Given the description of an element on the screen output the (x, y) to click on. 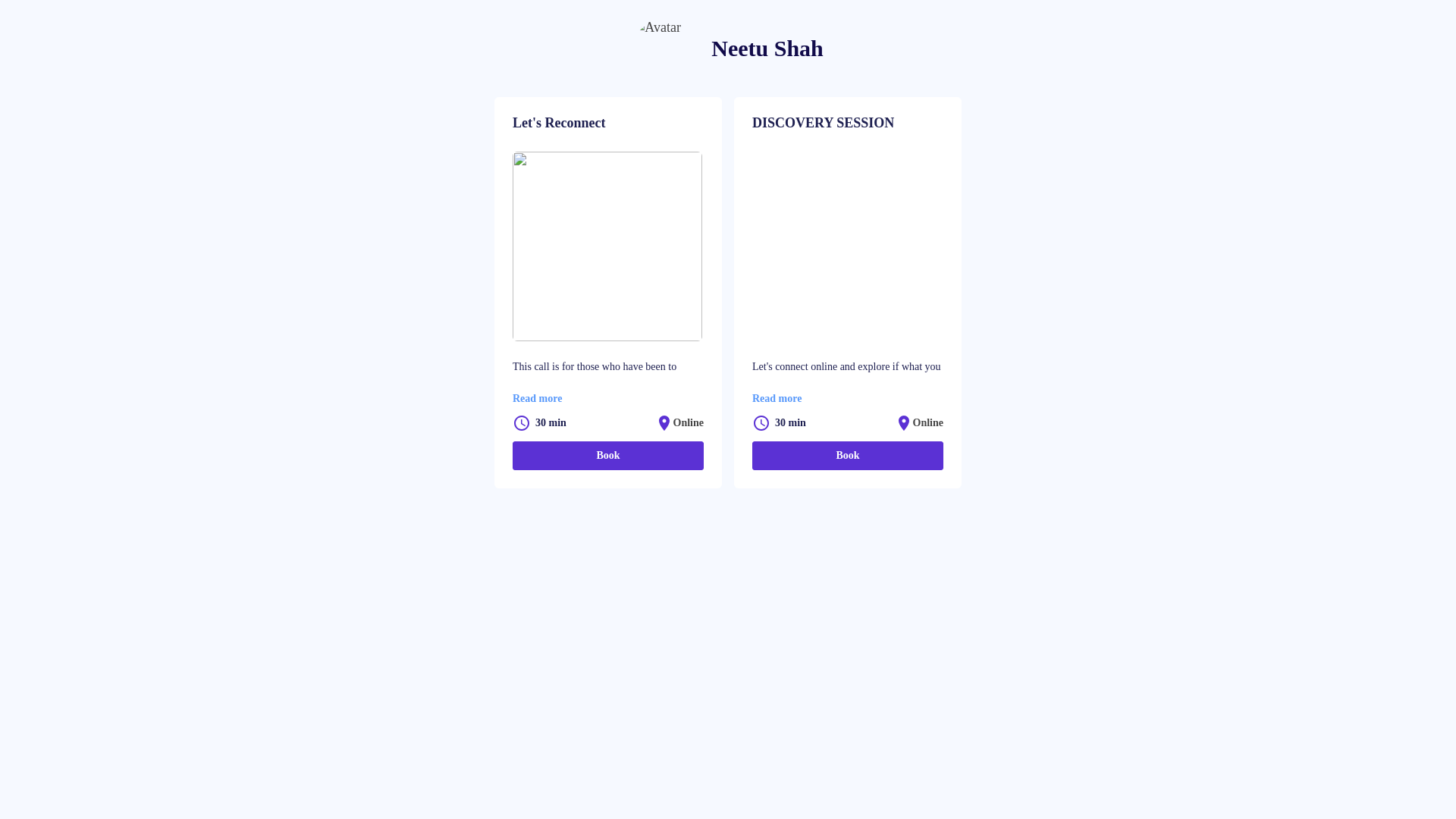
Read more Element type: text (776, 398)
DISCOVERY SESSION Element type: text (847, 124)
Book Element type: text (847, 455)
Let's Reconnect Element type: text (607, 124)
Read more Element type: text (536, 398)
Book Element type: text (607, 455)
